Given the description of an element on the screen output the (x, y) to click on. 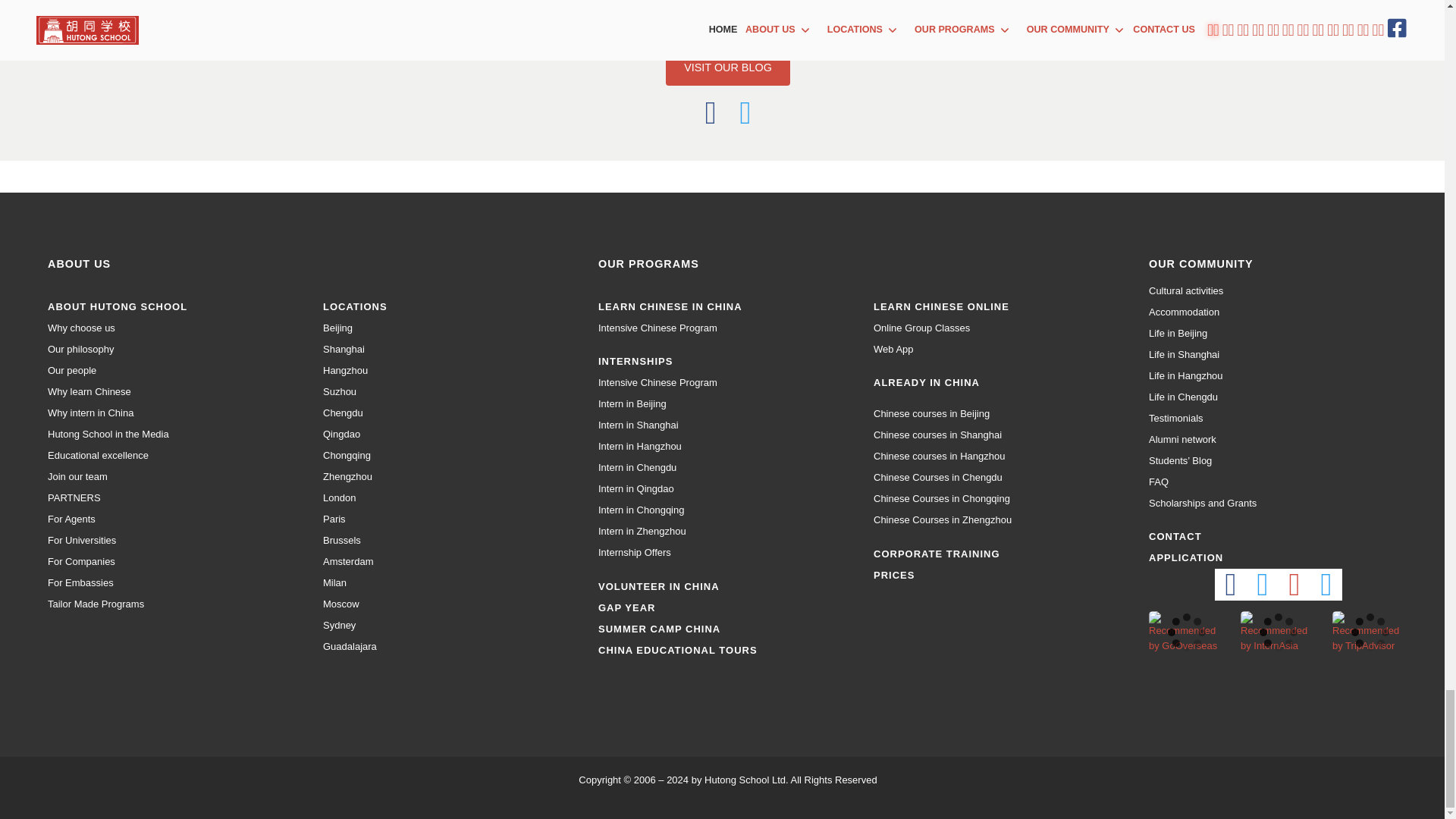
Recommended by TripAdvisor (1369, 631)
Recommended by GoOverseas (1186, 631)
Recommended by InternAsia (1278, 631)
